Given the description of an element on the screen output the (x, y) to click on. 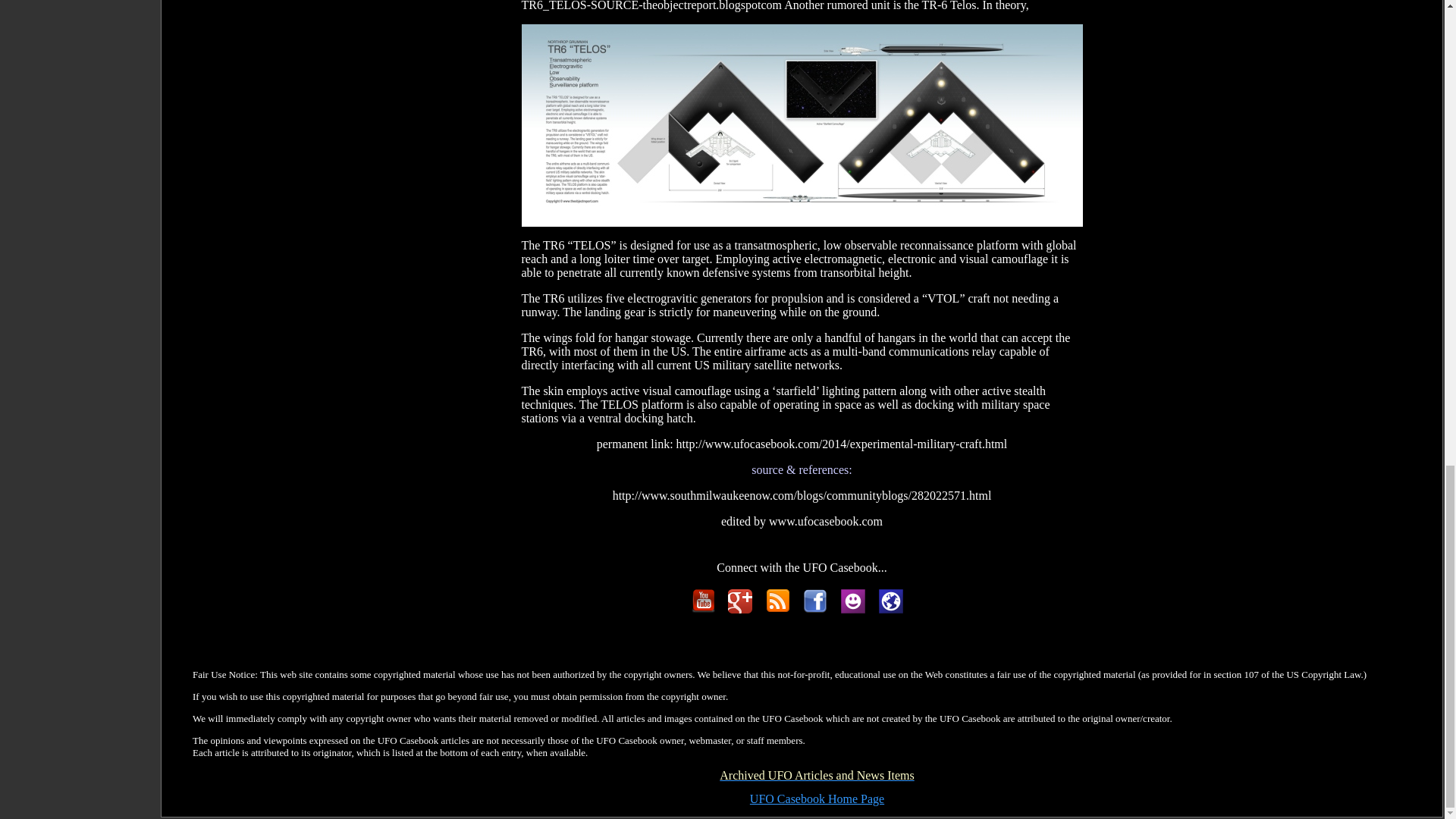
UFO Casebook Home Page (816, 798)
Archived UFO Articles and News Items (816, 776)
